Given the description of an element on the screen output the (x, y) to click on. 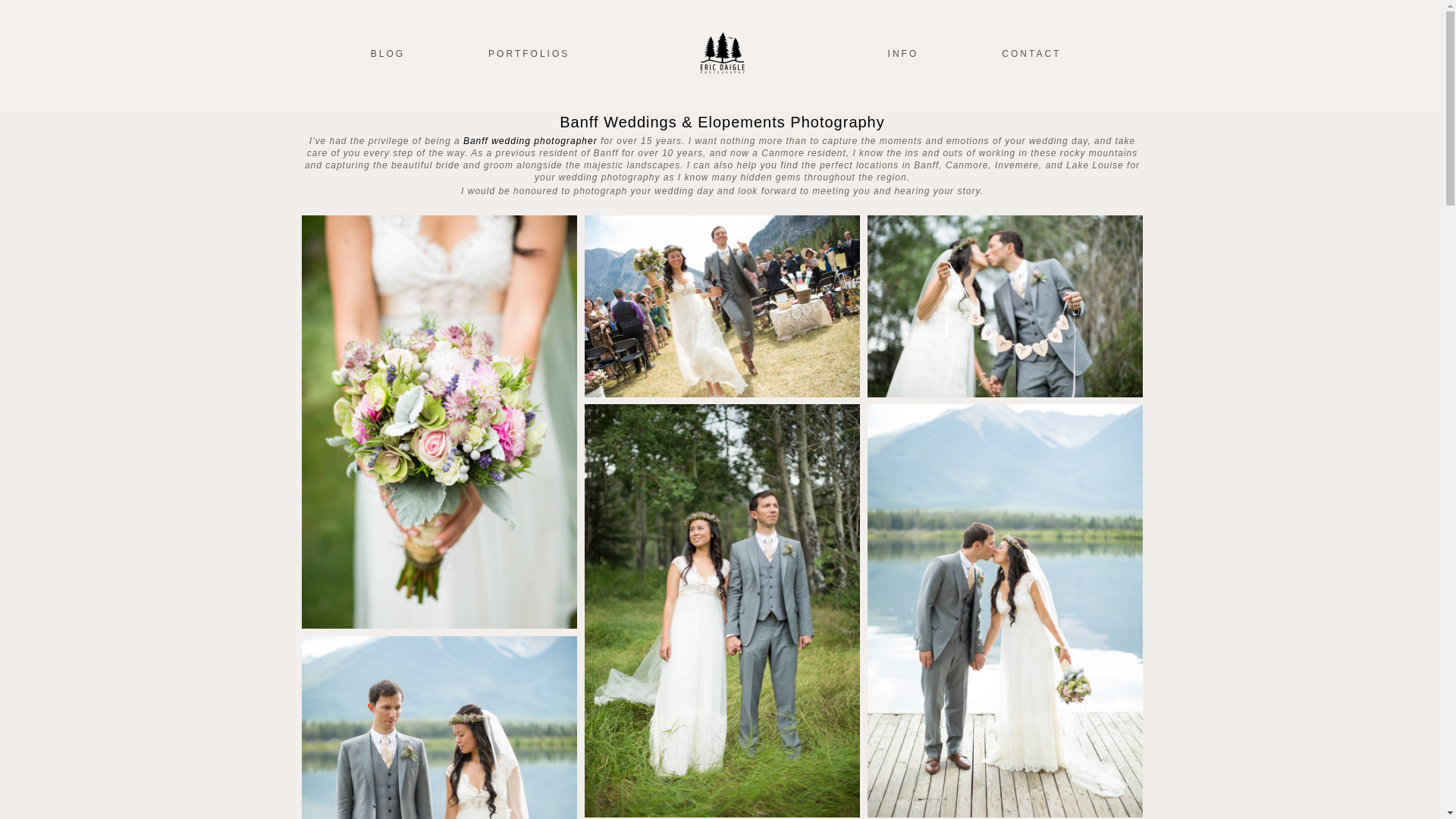
PORTFOLIOS (528, 53)
CONTACT (1031, 53)
BLOG (387, 53)
INFO (903, 53)
Banff wedding photographer (529, 140)
